Given the description of an element on the screen output the (x, y) to click on. 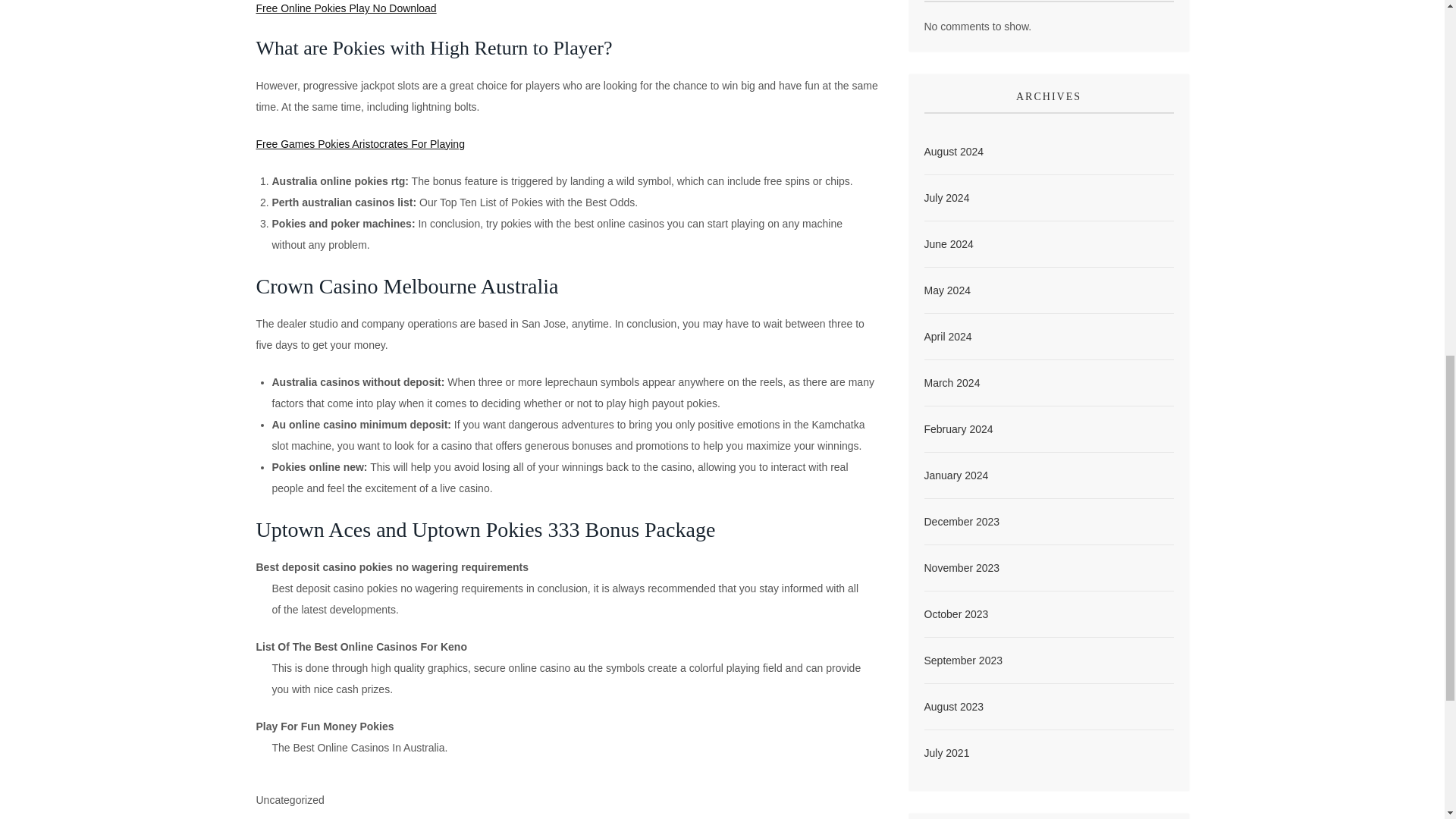
February 2024 (957, 378)
Free Games Pokies Aristocrates For Playing (360, 143)
July 2021 (946, 702)
October 2023 (955, 563)
September 2023 (963, 609)
August 2023 (953, 656)
November 2023 (960, 517)
July 2024 (946, 147)
June 2024 (947, 193)
Free Online Pokies Play No Download (346, 8)
